Given the description of an element on the screen output the (x, y) to click on. 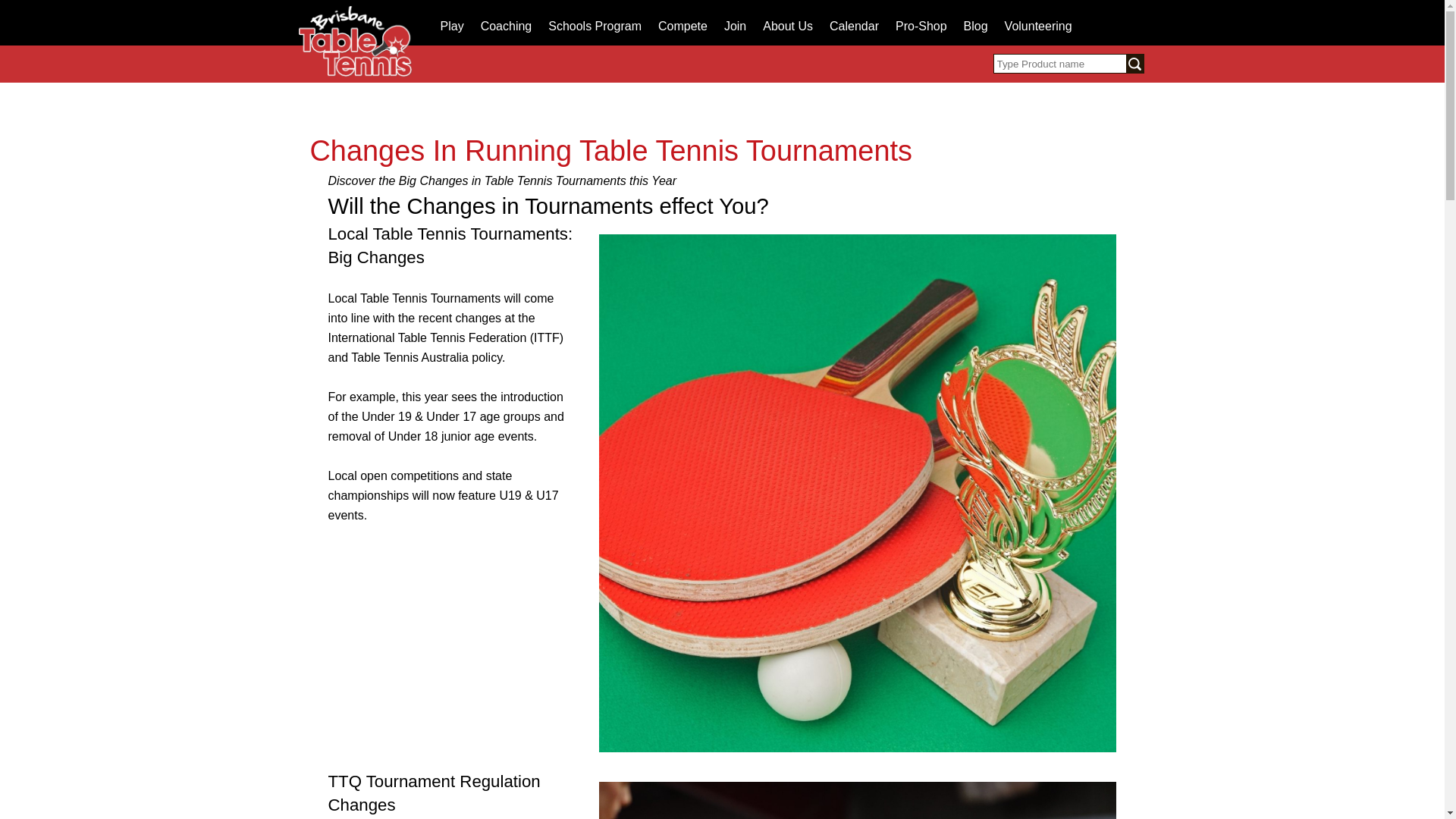
Pro-Shop (921, 27)
Schools Program (594, 27)
Calendar (854, 27)
product title (1060, 63)
About Us (787, 27)
Play (450, 27)
Join (734, 27)
Volunteering (1038, 27)
Compete (682, 27)
Coaching (506, 27)
